Given the description of an element on the screen output the (x, y) to click on. 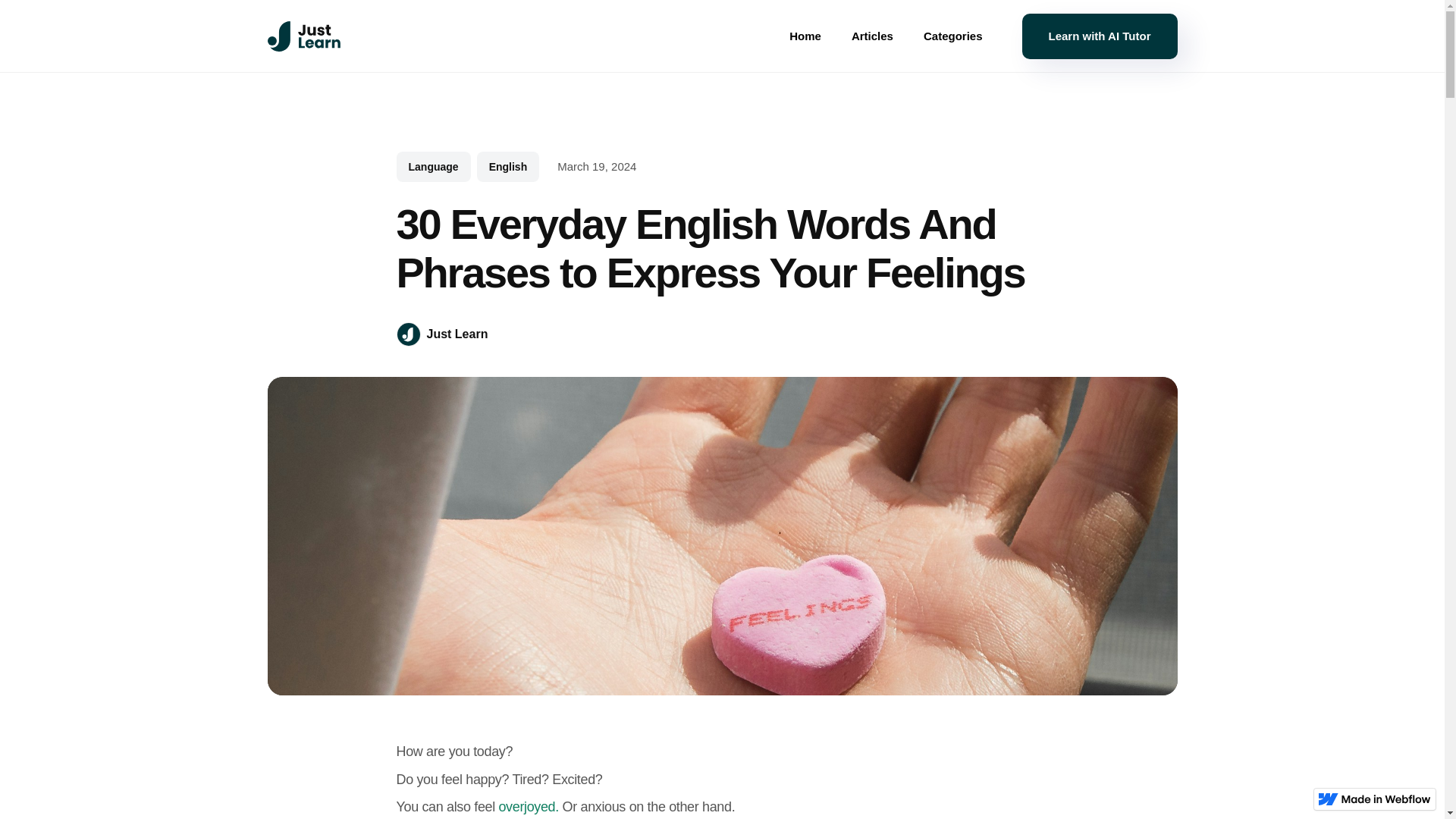
Just Learn (441, 334)
Language (433, 166)
Articles (871, 36)
Categories (952, 36)
Learn with AI Tutor (1099, 35)
English (508, 166)
overjoyed. (527, 806)
Home (804, 36)
